Given the description of an element on the screen output the (x, y) to click on. 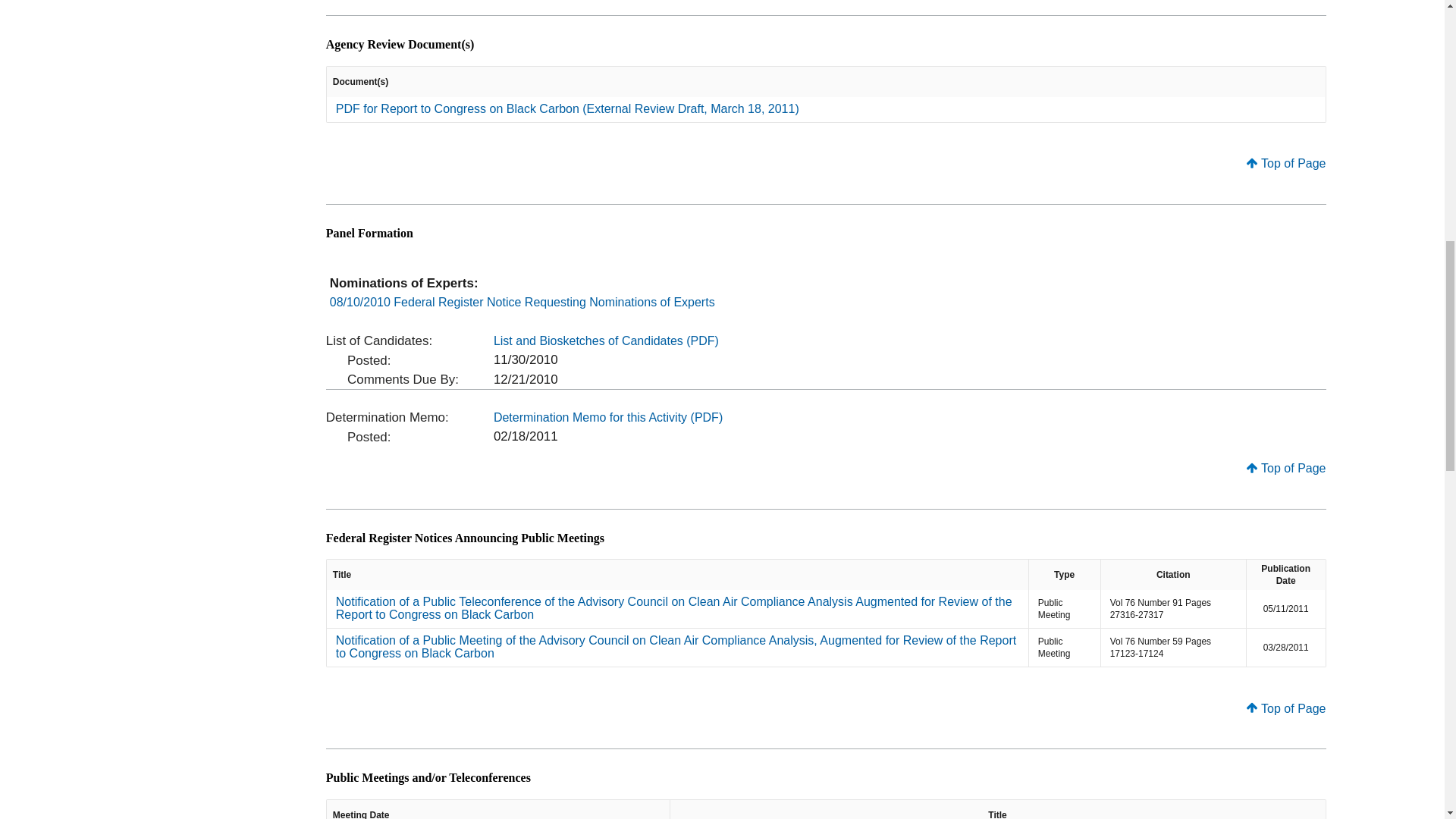
Top of Page (1285, 163)
Panel Formation (369, 232)
